Given the description of an element on the screen output the (x, y) to click on. 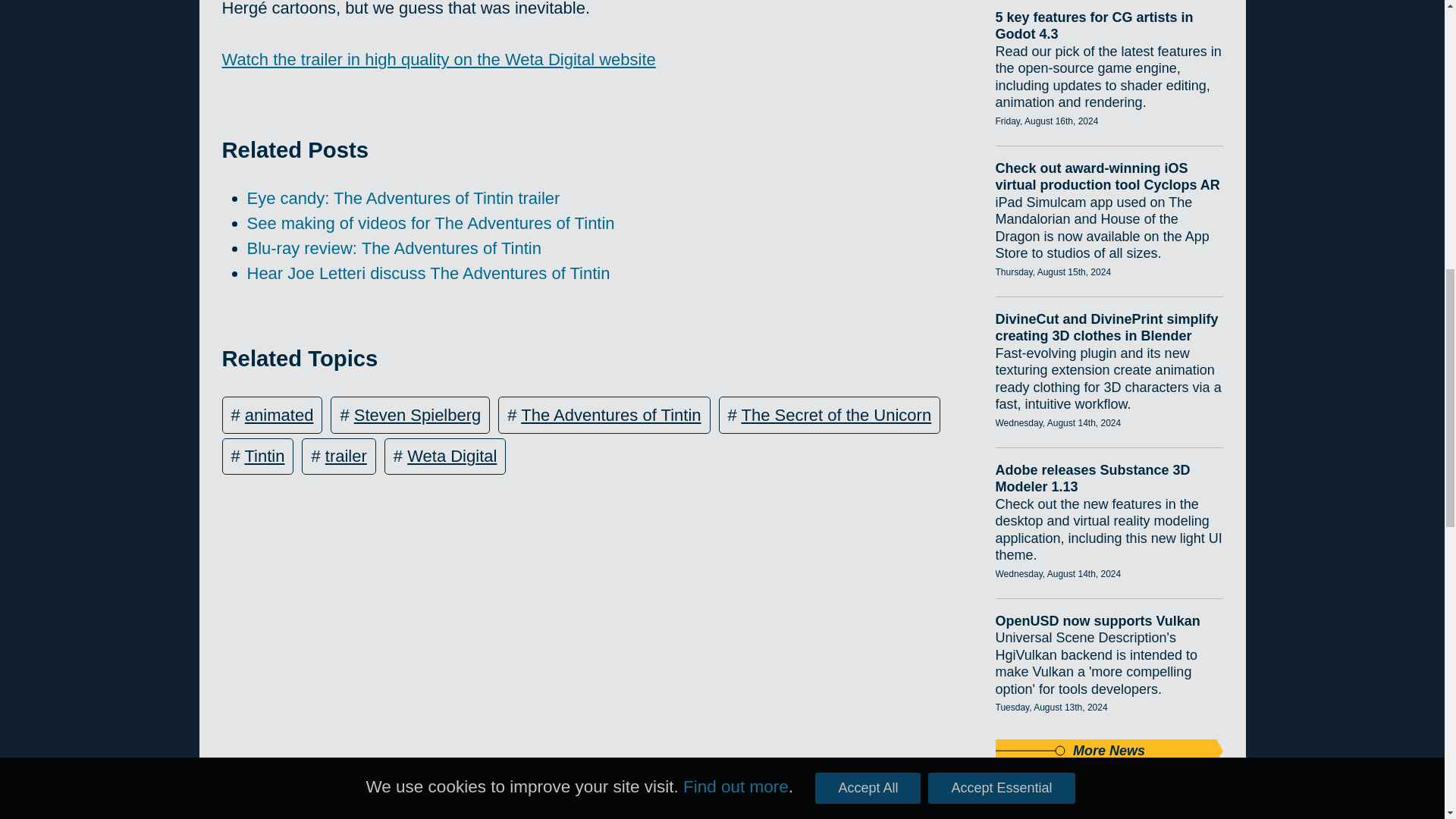
The Secret of the Unicorn (836, 415)
See making of videos for The Adventures of Tintin (430, 222)
5 key features for CG artists in Godot 4.3 (1108, 26)
Eye candy: The Adventures of Tintin trailer (403, 198)
trailer (345, 456)
Blu-ray review: The Adventures of Tintin (394, 248)
Hear Joe Letteri discuss The Adventures of Tintin (428, 272)
Blu-ray review: The Adventures of Tintin (394, 248)
Adobe releases Substance 3D Modeler 1.13 (1108, 478)
